Given the description of an element on the screen output the (x, y) to click on. 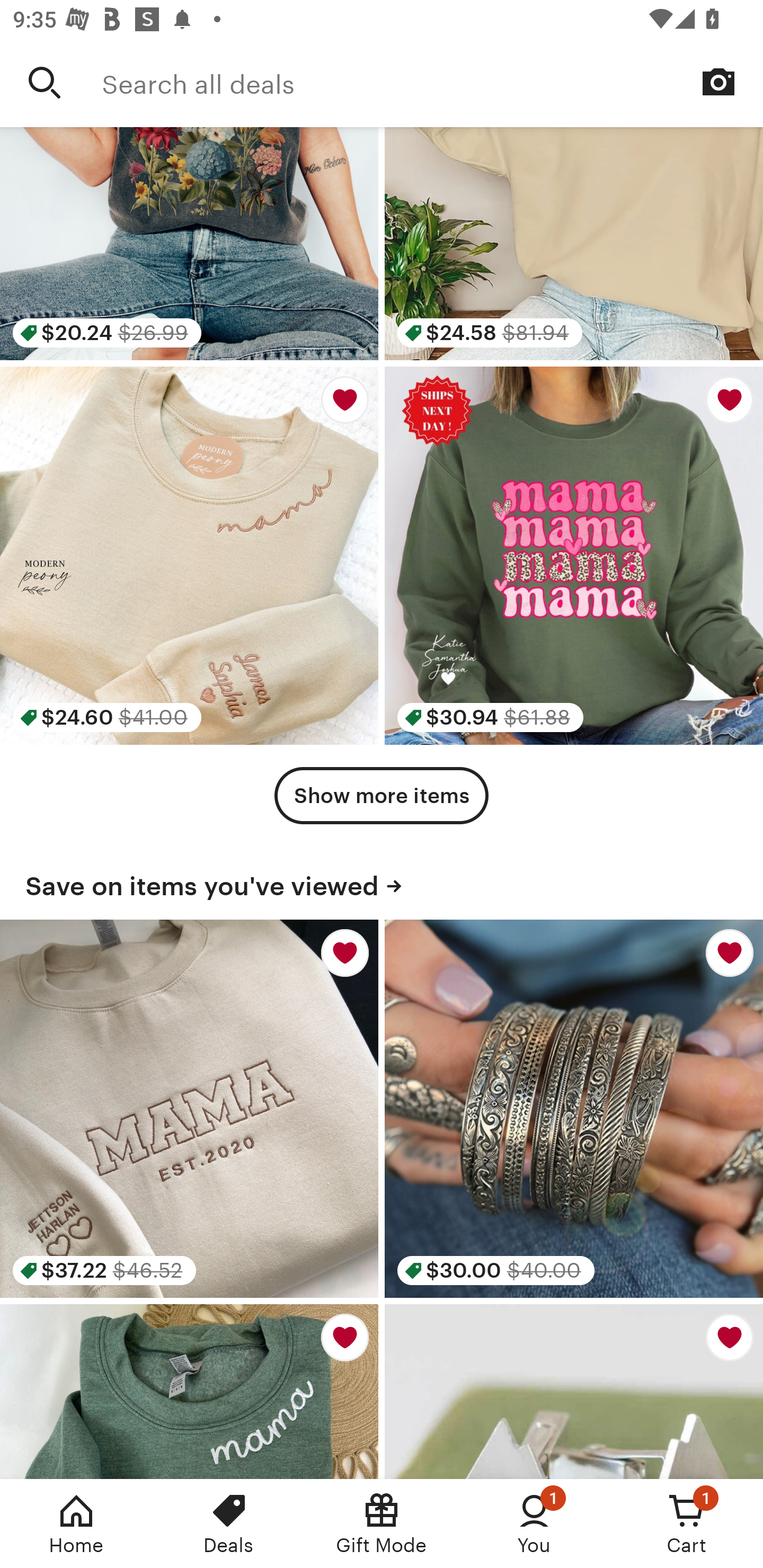
Search for anything on Etsy (44, 82)
Search by image (718, 81)
Search all deals (432, 82)
Show more items (381, 795)
Save on items you've viewed (381, 883)
Home (76, 1523)
Gift Mode (381, 1523)
You, 1 new notification You (533, 1523)
Cart, 1 new notification Cart (686, 1523)
